Given the description of an element on the screen output the (x, y) to click on. 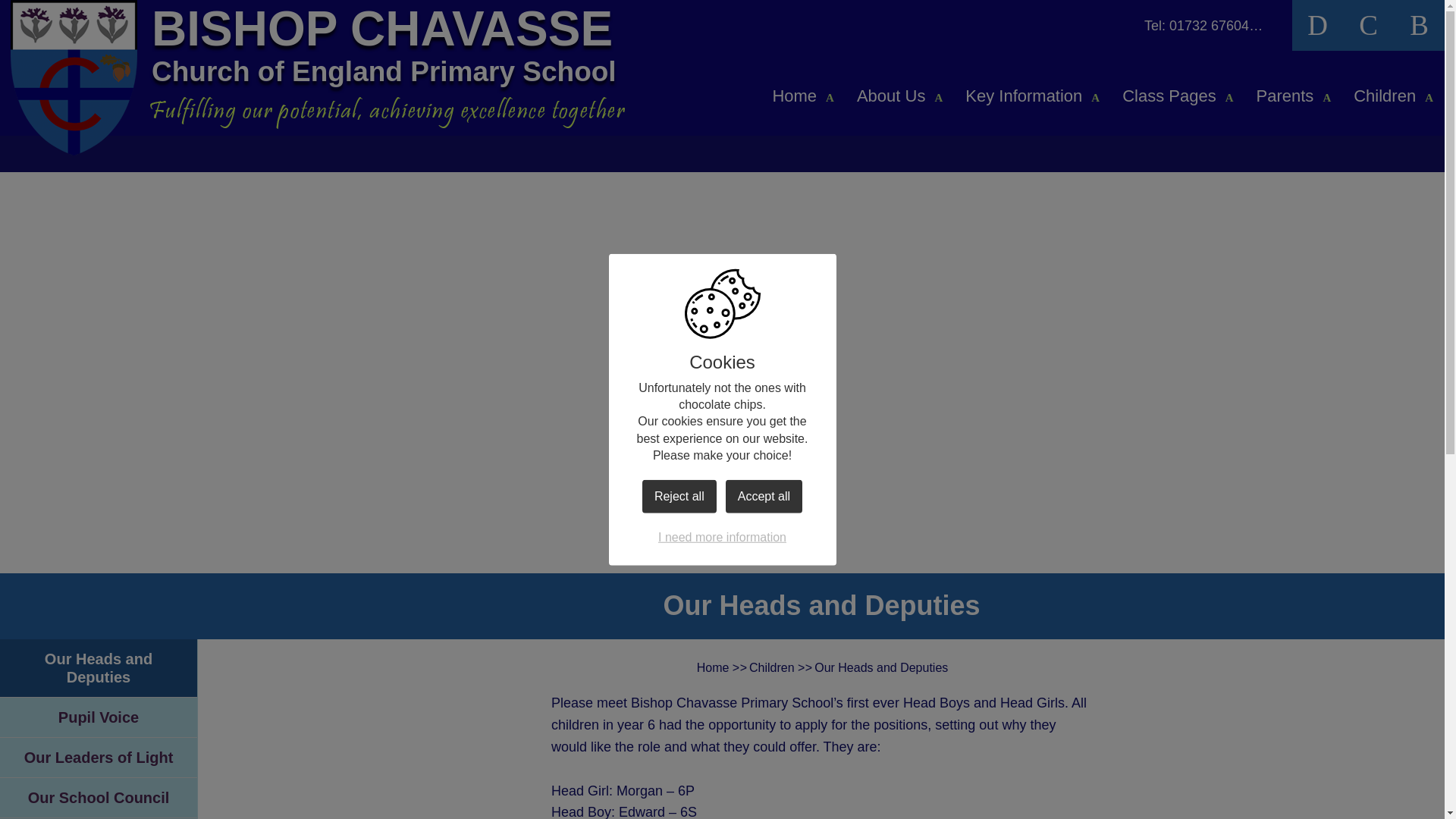
Key Information (1032, 104)
Home (802, 104)
Home Page (73, 77)
Google Search (1367, 25)
About Us (899, 104)
Google Translate (1317, 25)
Home Page (73, 77)
